Given the description of an element on the screen output the (x, y) to click on. 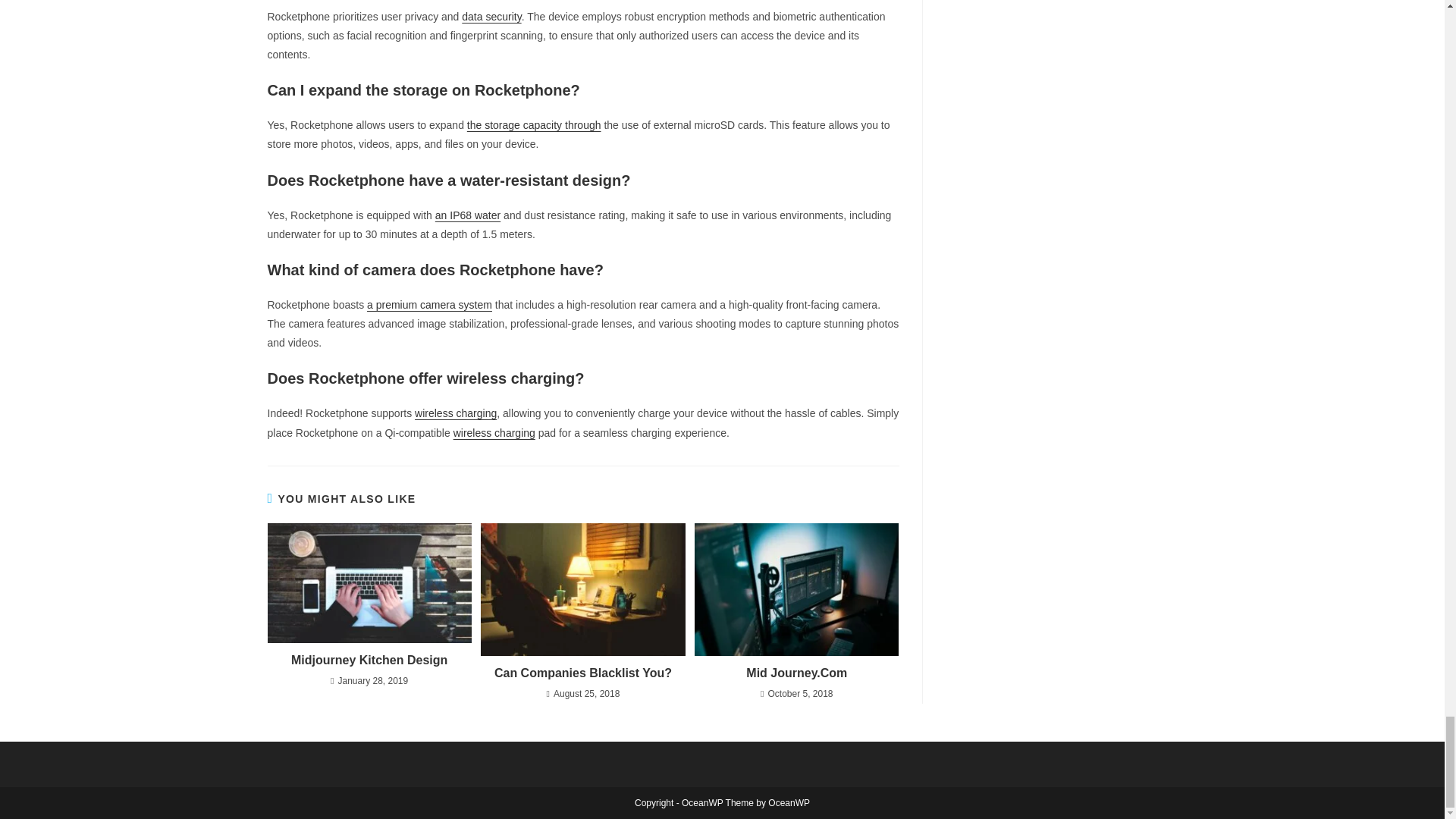
the storage capacity through (534, 124)
Can Companies Blacklist You? (582, 673)
wireless charging (493, 432)
an IP68 water (467, 215)
wireless charging (455, 413)
Mid Journey.Com (796, 673)
Midjourney Kitchen Design (368, 660)
a premium camera system (429, 304)
data security (491, 16)
